Given the description of an element on the screen output the (x, y) to click on. 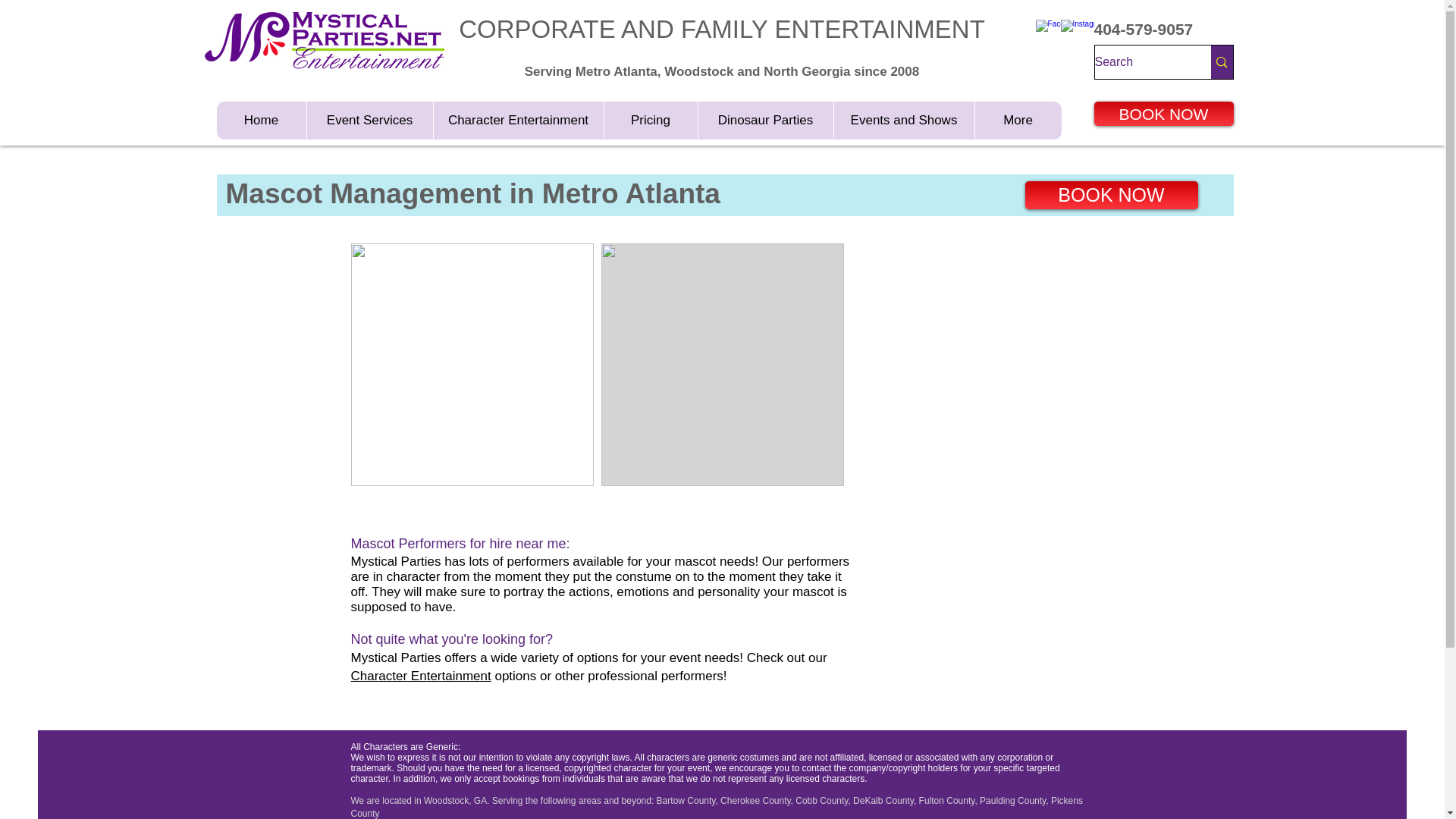
BOOK NOW (1111, 194)
BOOK NOW (1163, 113)
Pricing (650, 120)
Home (260, 120)
Character Entertainment (420, 676)
Character Entertainment (517, 120)
Dinosaur Parties (764, 120)
